Given the description of an element on the screen output the (x, y) to click on. 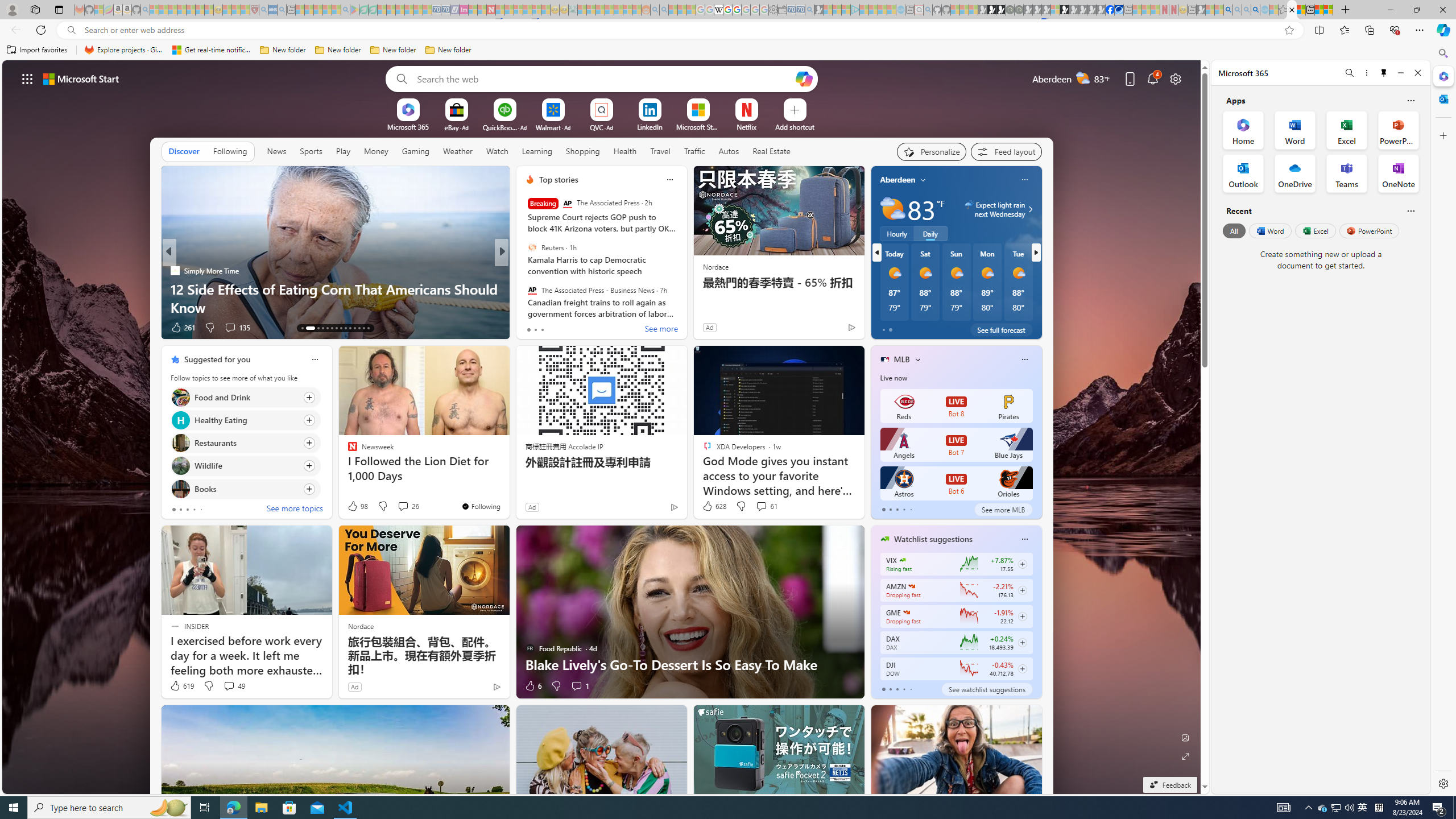
Home | Sky Blue Bikes - Sky Blue Bikes - Sleeping (900, 9)
Google Chrome Internet Browser Download - Search Images (1255, 9)
Excel (1315, 230)
AutomationID: tab-24 (358, 328)
Cheap Hotels - Save70.com - Sleeping (445, 9)
Dislike (556, 685)
Nordace (360, 625)
Partly sunny (892, 208)
MSN - Sleeping (1200, 9)
684 Like (532, 327)
View comments 61 Comment (761, 505)
